Given the description of an element on the screen output the (x, y) to click on. 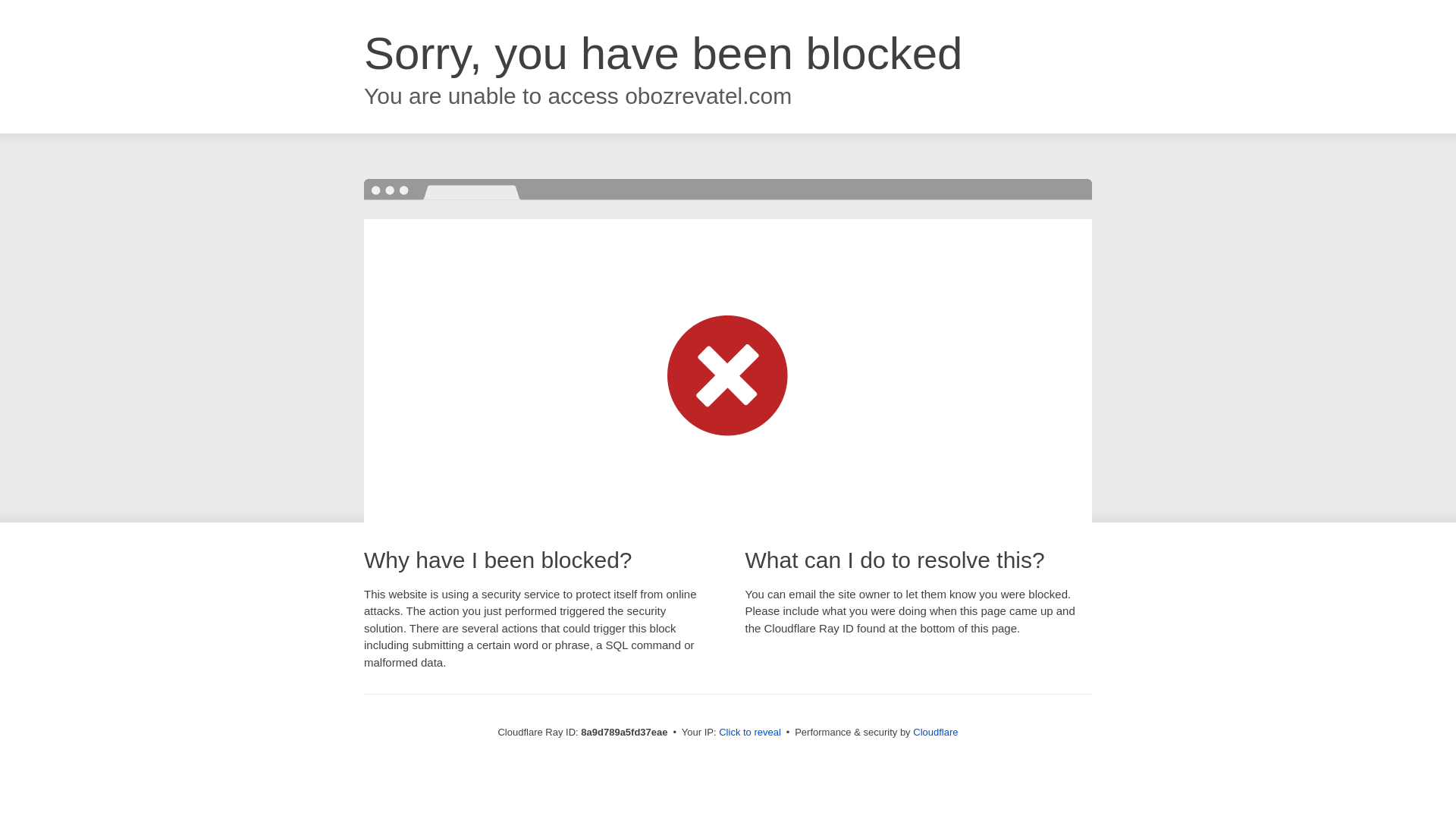
Click to reveal (749, 732)
Cloudflare (935, 731)
